Given the description of an element on the screen output the (x, y) to click on. 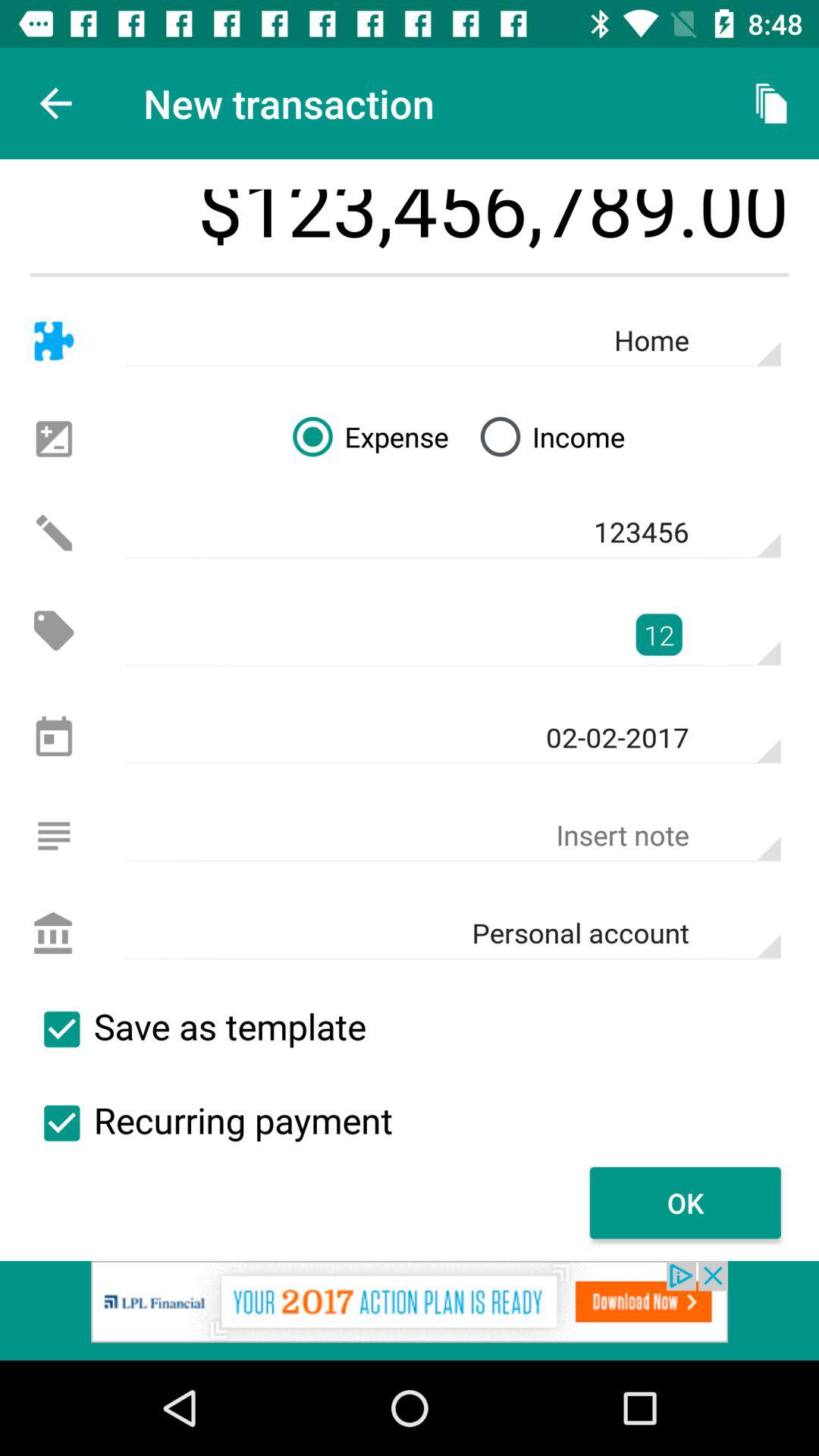
edit calendar (53, 738)
